Given the description of an element on the screen output the (x, y) to click on. 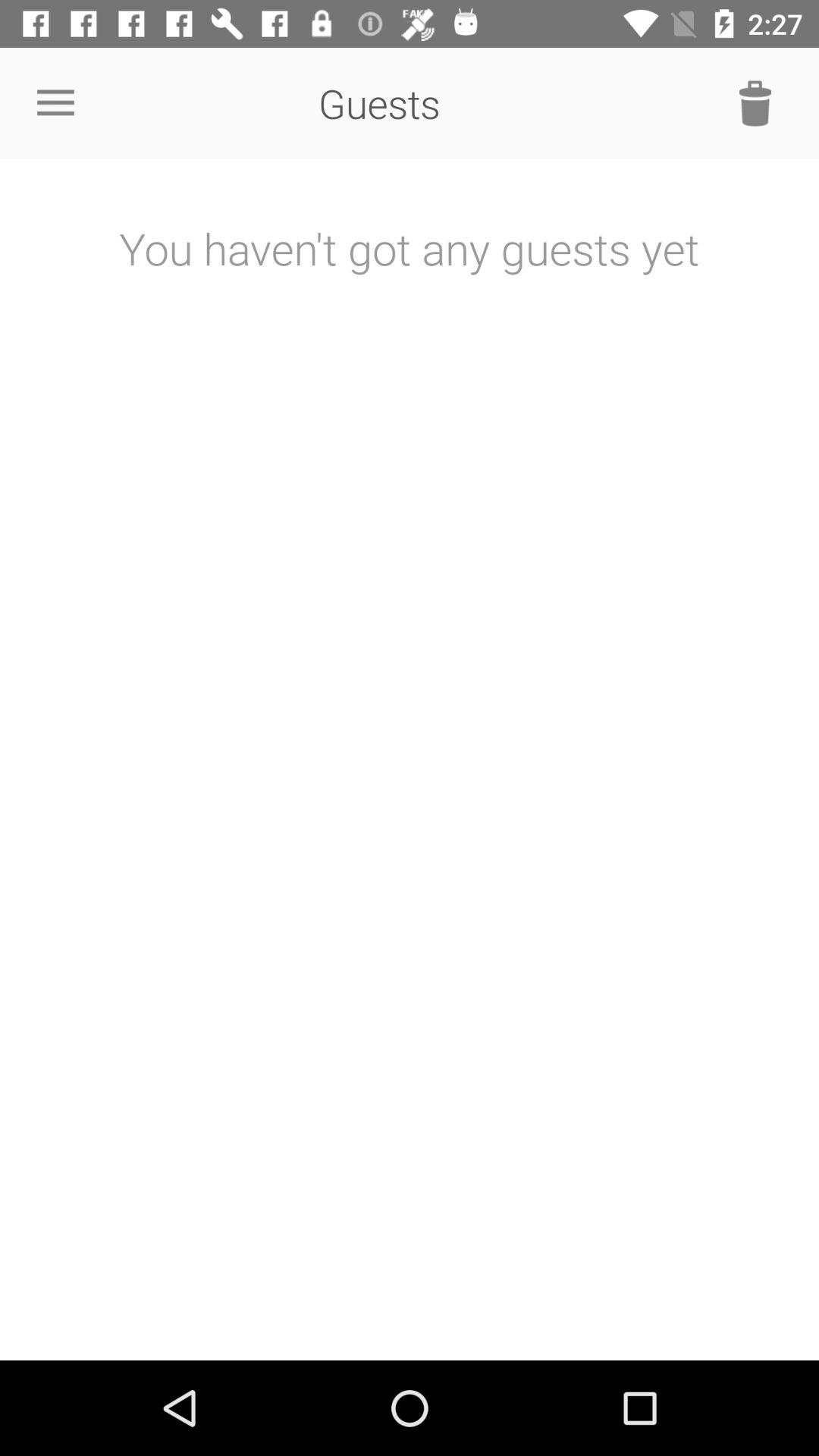
turn off the icon to the left of guests item (55, 103)
